Given the description of an element on the screen output the (x, y) to click on. 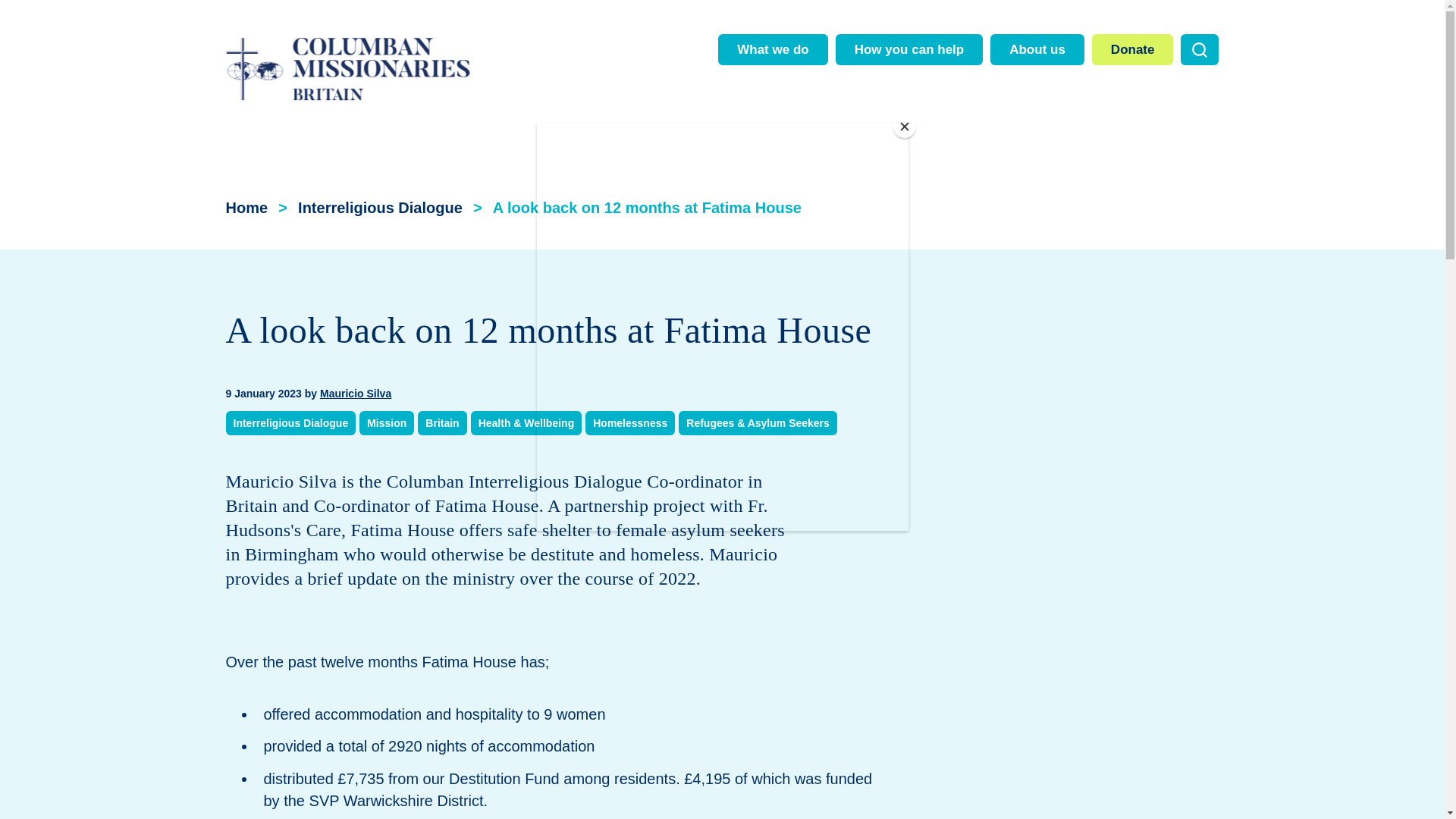
What we do (772, 49)
How you can help (909, 49)
About us (1037, 49)
